Given the description of an element on the screen output the (x, y) to click on. 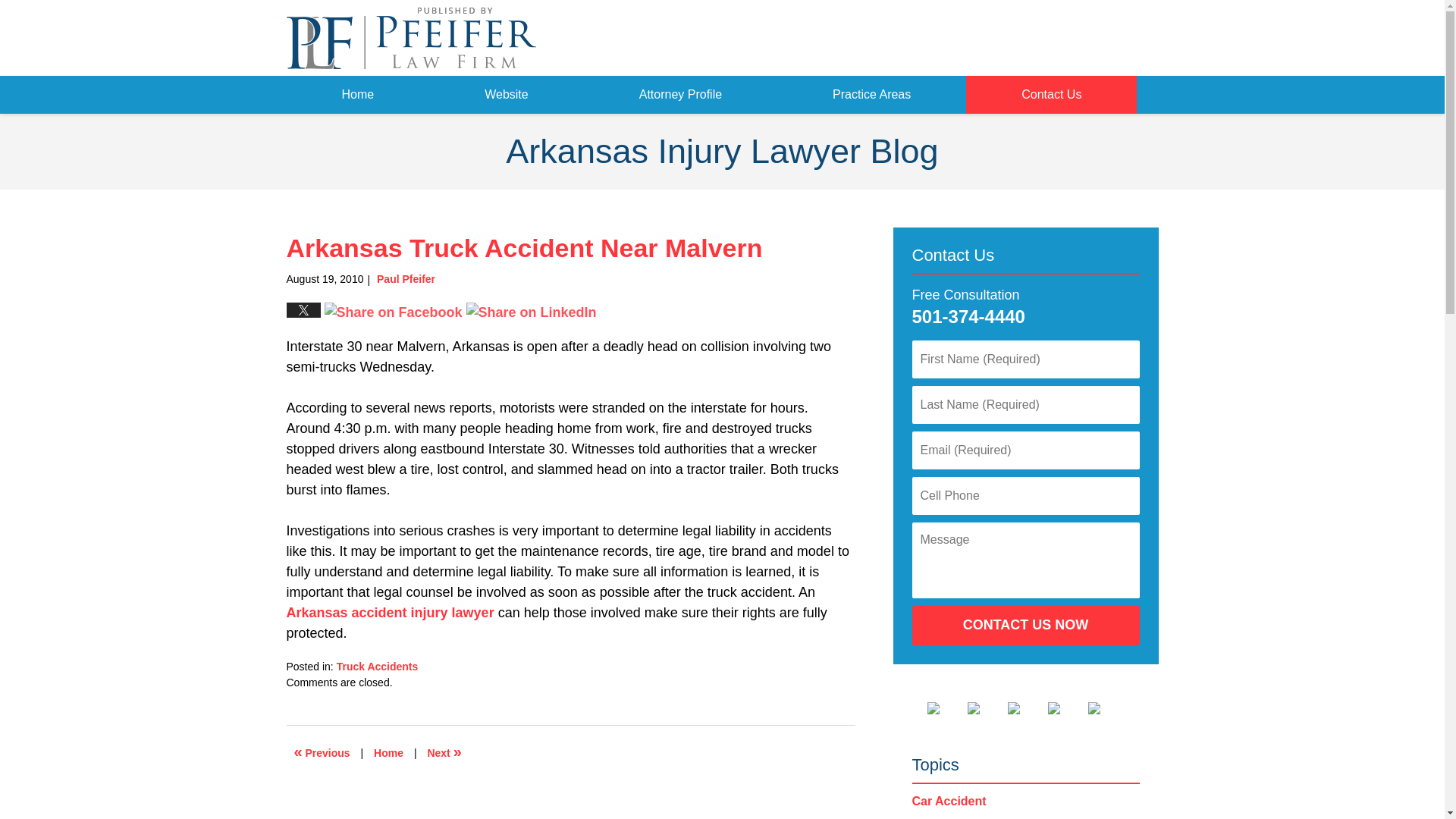
Truck Accidents (377, 666)
Pfeifer Law Firm (1079, 37)
View all posts in Truck Accidents (377, 666)
CONTACT US NOW (1024, 625)
Attorney Profile (680, 94)
Home (357, 94)
Car Accident (948, 800)
Practice Areas (871, 94)
Paul Pfeifer (406, 278)
